Given the description of an element on the screen output the (x, y) to click on. 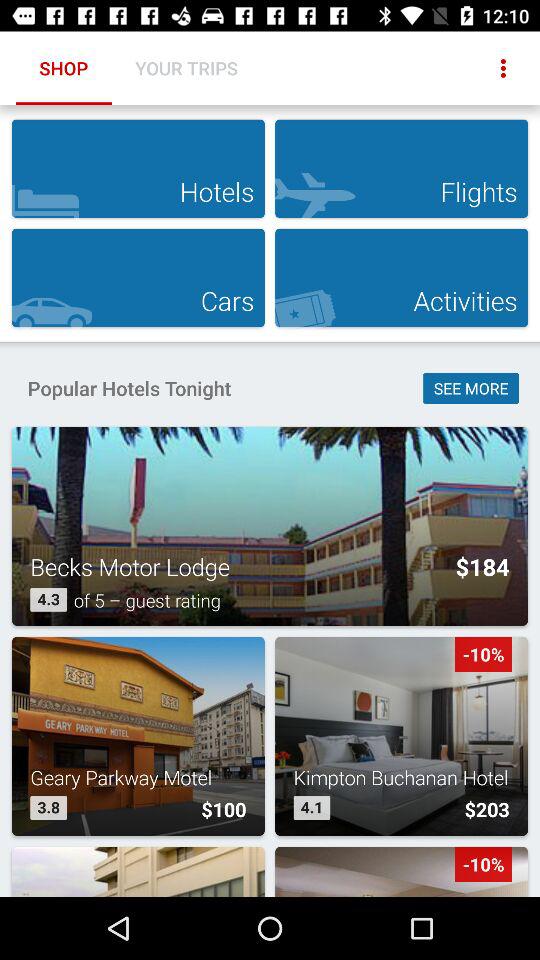
open item to the right of the your trips icon (503, 68)
